Given the description of an element on the screen output the (x, y) to click on. 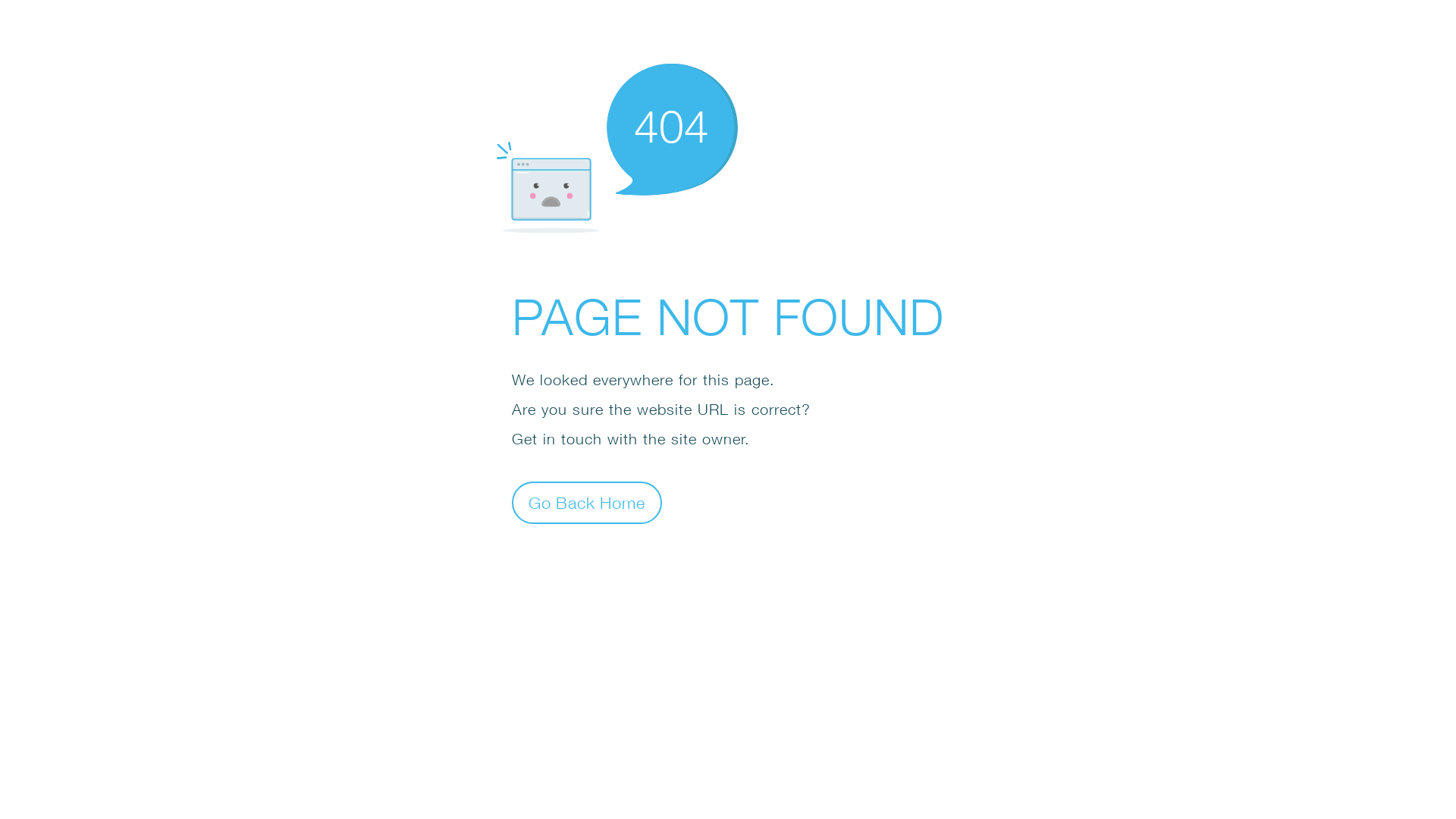
Go Back Home Element type: text (586, 502)
